Given the description of an element on the screen output the (x, y) to click on. 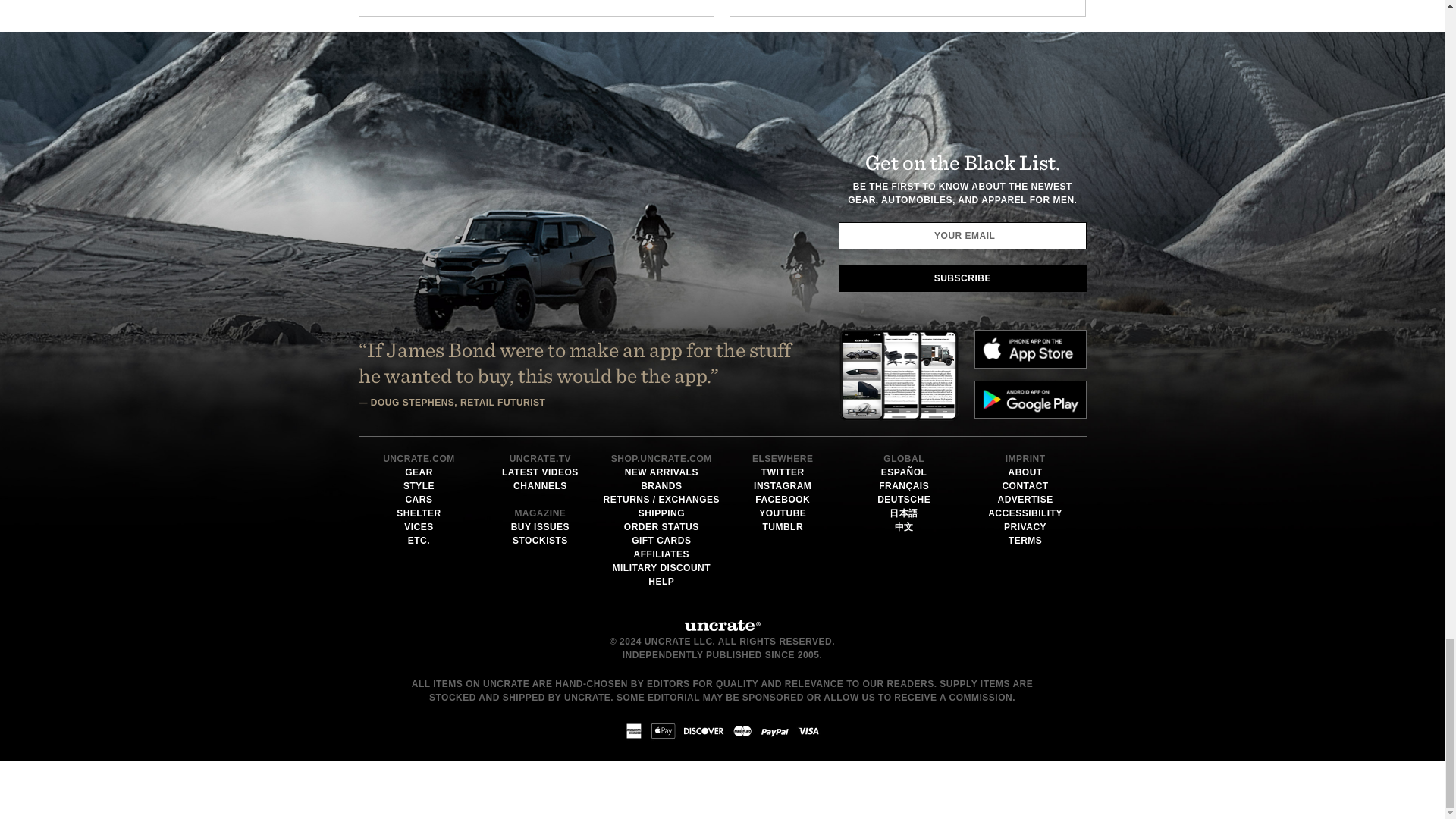
Subscribe (962, 277)
